Given the description of an element on the screen output the (x, y) to click on. 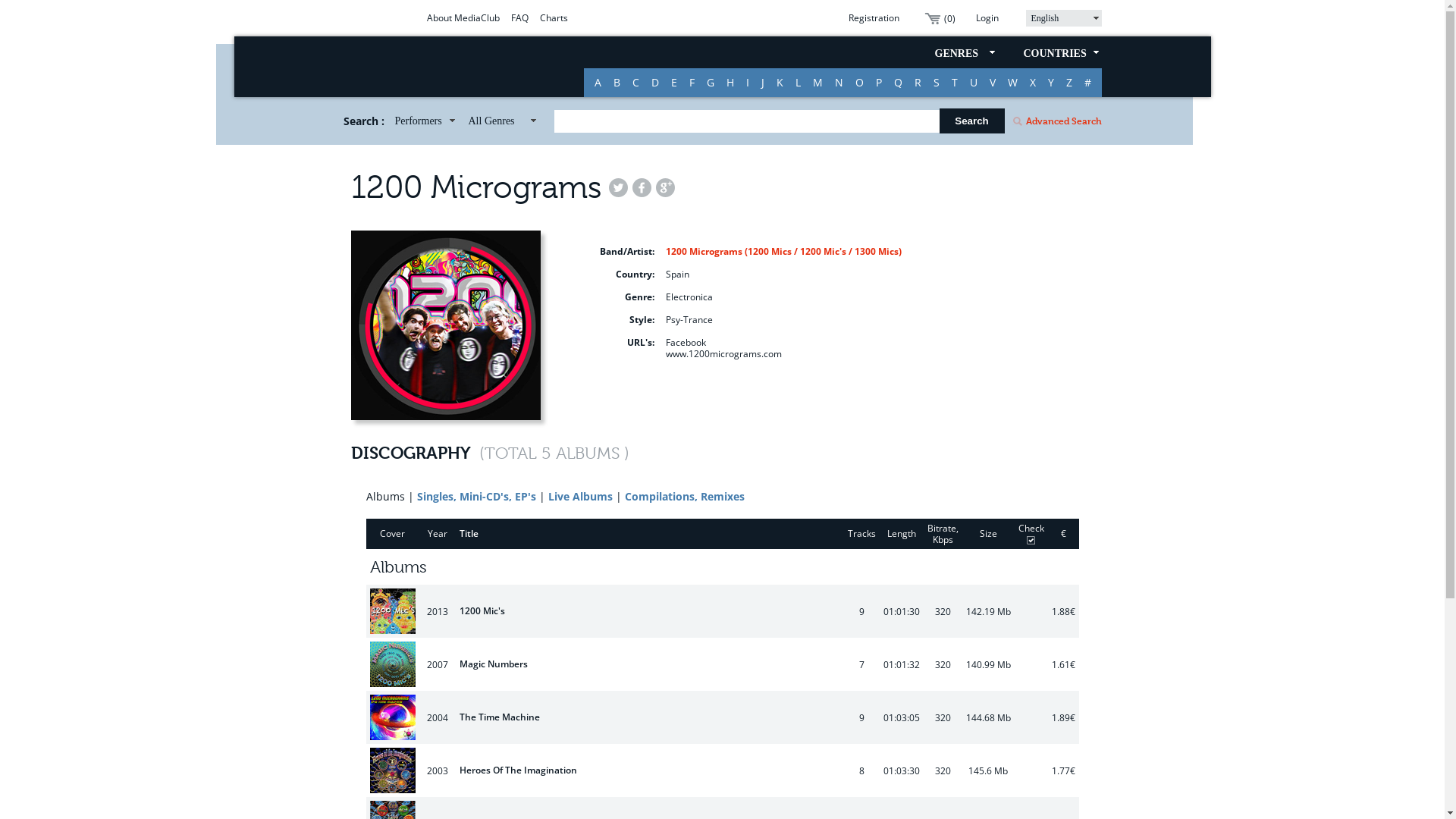
Heroes Of The Imagination Element type: text (518, 769)
Media Club  music for all download mp3 Element type: hover (429, 62)
All Genres Element type: text (500, 119)
Spain Element type: text (677, 272)
I Element type: text (747, 82)
Search Element type: text (971, 120)
S Element type: text (935, 82)
U Element type: text (972, 82)
1200 Mic's Element type: hover (392, 609)
Electronica Element type: text (688, 295)
O Element type: text (859, 82)
The Time Machine Element type: hover (392, 715)
H Element type: text (730, 82)
X Element type: text (1032, 82)
 Login Element type: text (985, 18)
K Element type: text (779, 82)
Magic Numbers Element type: hover (392, 662)
J Element type: text (762, 82)
P Element type: text (878, 82)
Advanced Search Element type: text (1056, 120)
M Element type: text (817, 82)
The Time Machine Element type: text (499, 716)
W Element type: text (1011, 82)
V Element type: text (991, 82)
Heroes Of The Imagination Element type: hover (392, 768)
D Element type: text (654, 82)
Singles, Mini-CD's, EP's Element type: text (476, 496)
FAQ Element type: text (519, 17)
Z Element type: text (1069, 82)
R Element type: text (917, 82)
About MediaClub Element type: text (462, 17)
F Element type: text (690, 82)
Live Albums Element type: text (579, 496)
Y Element type: text (1050, 82)
www.1200micrograms.com Element type: text (723, 353)
Facebook Element type: text (685, 341)
Charts Element type: text (553, 17)
L Element type: text (797, 82)
C Element type: text (635, 82)
T Element type: text (953, 82)
 Registration Element type: text (866, 18)
1200 Mic's Element type: text (482, 610)
A Element type: text (597, 82)
English Element type: text (1063, 17)
COUNTRIES Element type: text (1059, 51)
Magic Numbers Element type: text (493, 663)
# Element type: text (1087, 82)
GENRES Element type: text (963, 51)
Performers Element type: text (423, 119)
Q Element type: text (897, 82)
Check Element type: text (1030, 533)
Psy-Trance Element type: text (688, 318)
N Element type: text (838, 82)
Compilations, Remixes Element type: text (684, 496)
G Element type: text (710, 82)
B Element type: text (615, 82)
(0) Element type: text (939, 18)
E Element type: text (673, 82)
